Given the description of an element on the screen output the (x, y) to click on. 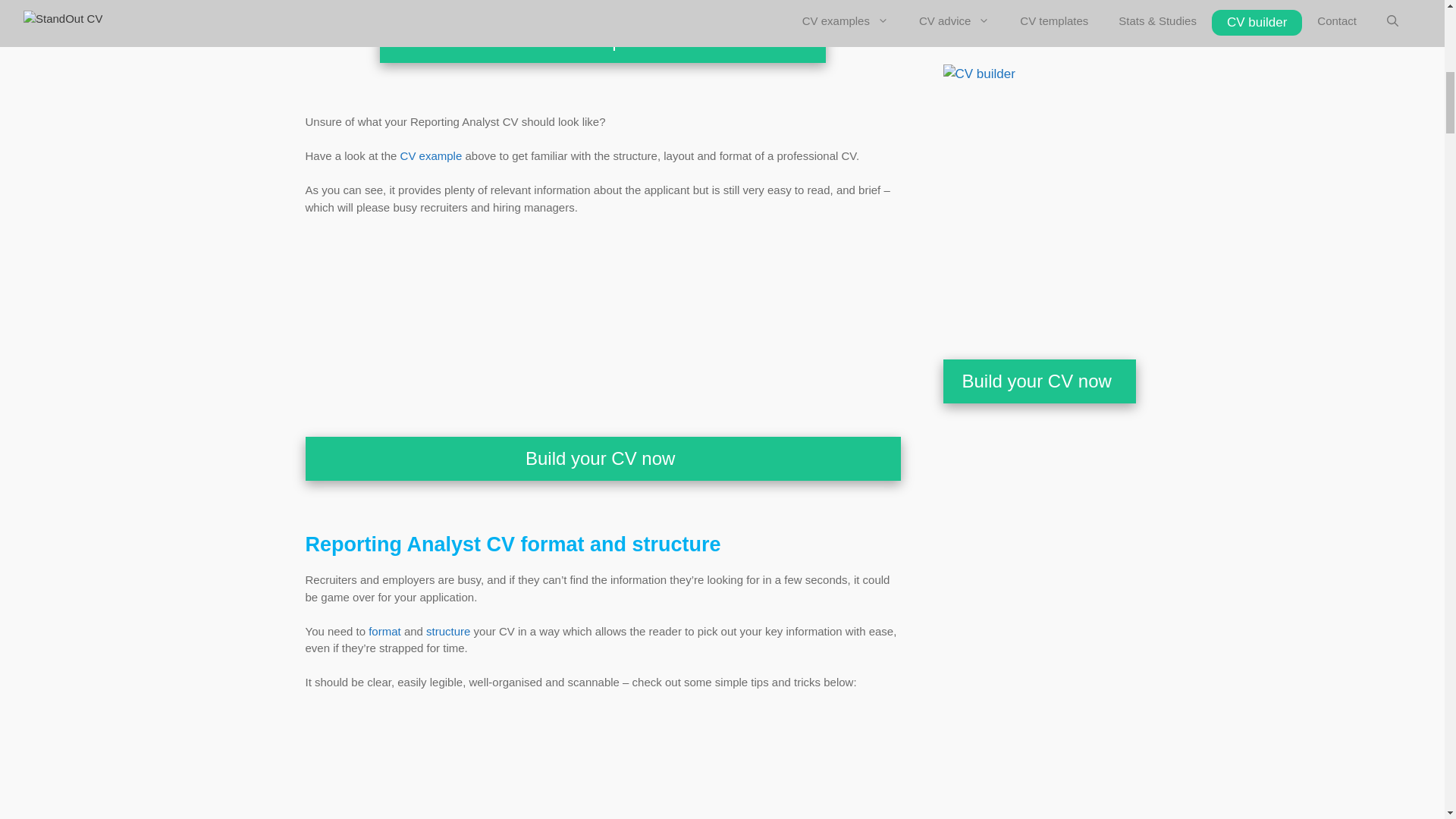
Example CV (431, 155)
CV format (384, 631)
CV structure (448, 631)
